Given the description of an element on the screen output the (x, y) to click on. 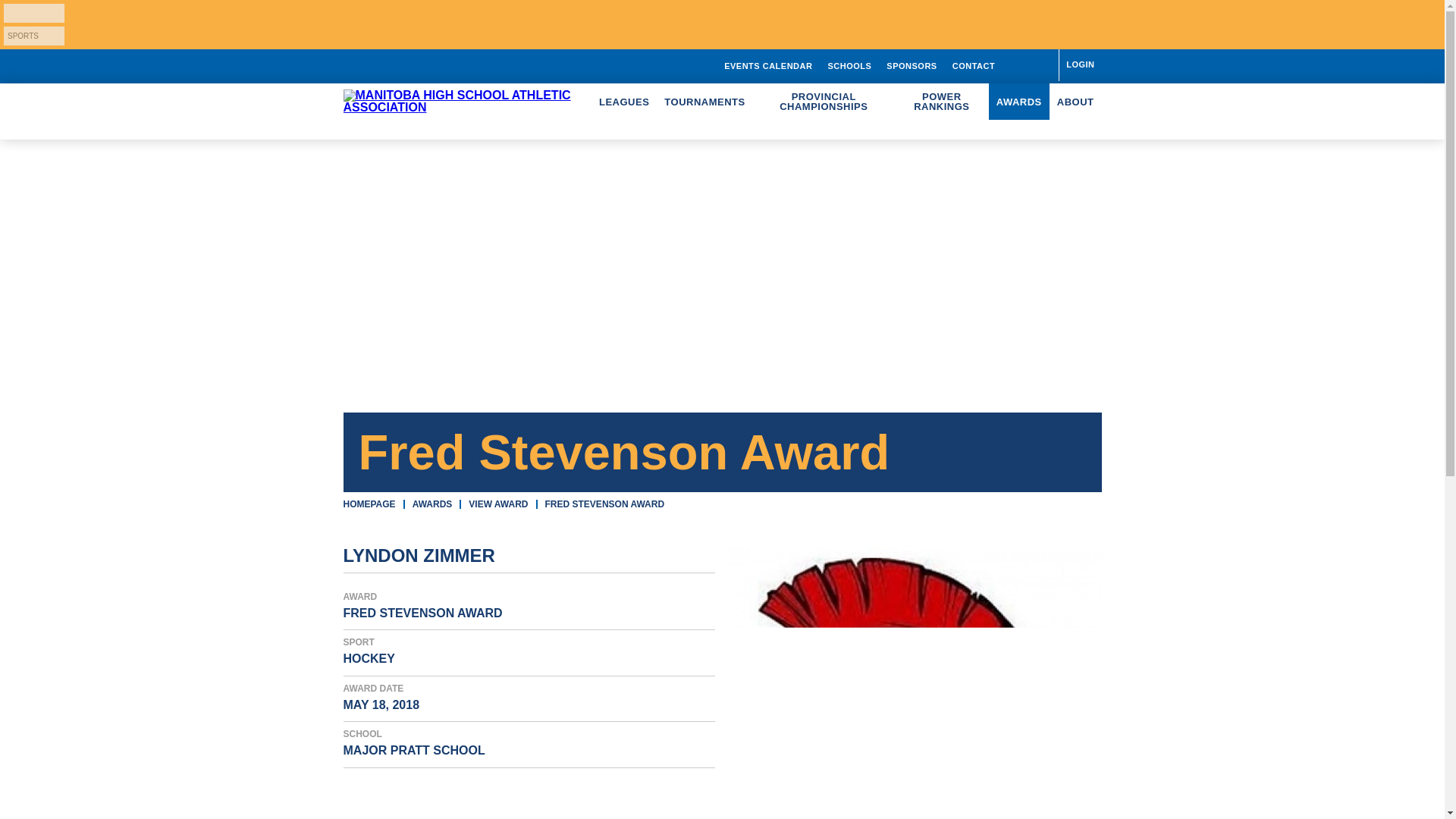
TOURNAMENTS (704, 101)
SCHOOLS (849, 65)
LOGIN (1079, 65)
CONTACT (973, 65)
LEAGUES (623, 101)
Homepage (368, 503)
EVENTS CALENDAR (767, 65)
SPONSORS (911, 65)
